Given the description of an element on the screen output the (x, y) to click on. 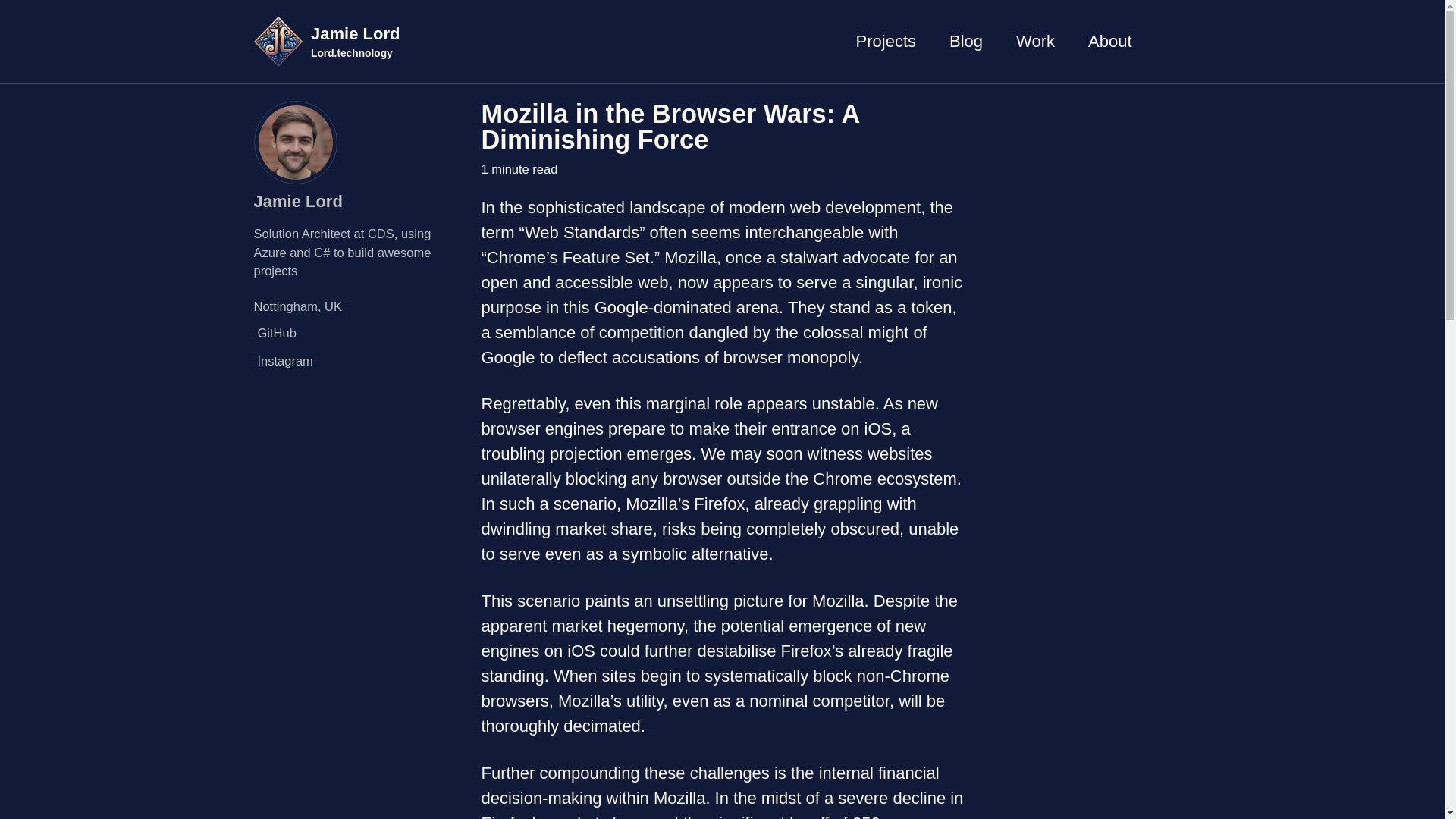
Work (1035, 41)
Jamie Lord (297, 200)
GitHub (358, 332)
Instagram (358, 361)
About (1109, 41)
Blog (965, 41)
Projects (885, 41)
Mozilla in the Browser Wars: A Diminishing Force (669, 126)
